Given the description of an element on the screen output the (x, y) to click on. 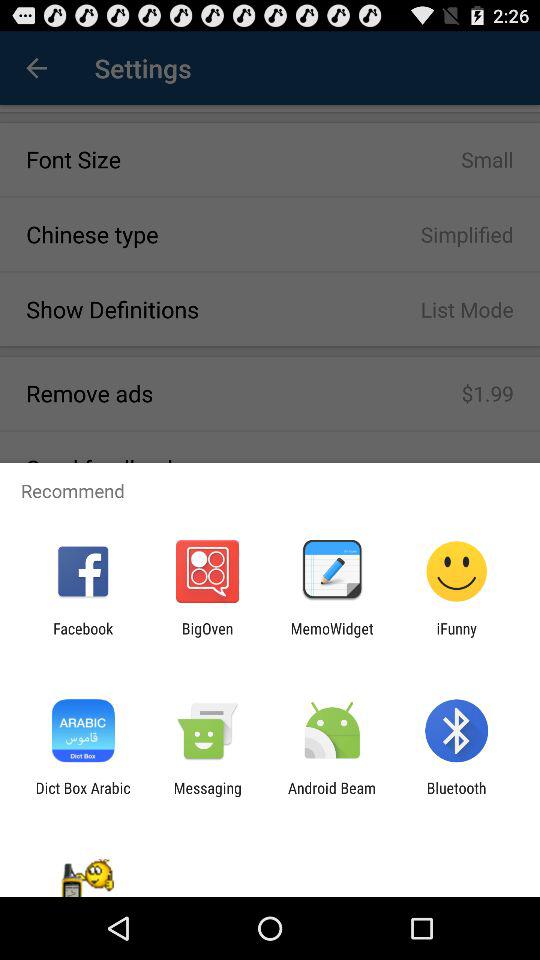
press icon next to ifunny item (331, 637)
